Given the description of an element on the screen output the (x, y) to click on. 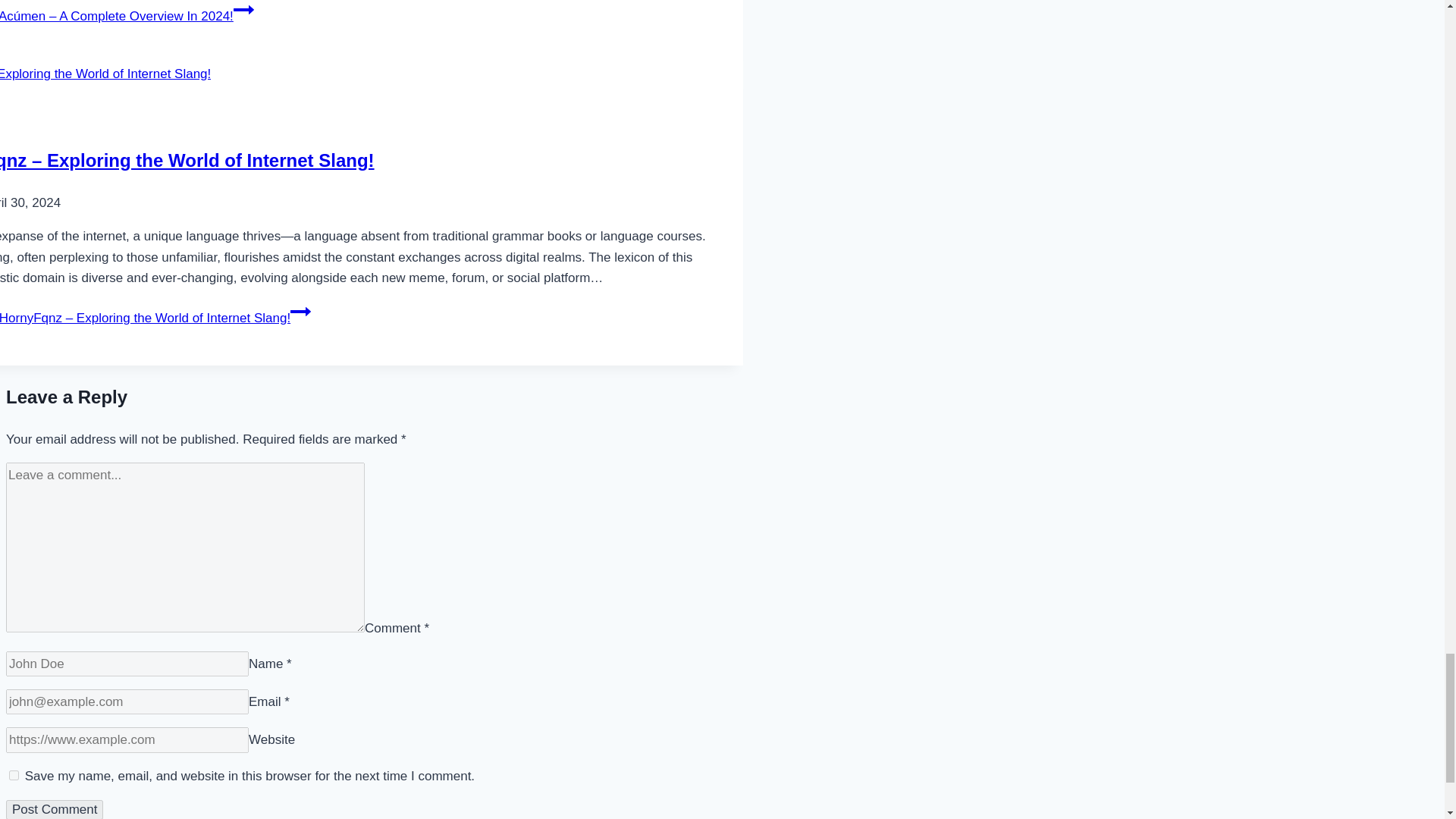
Continue (242, 10)
Post Comment (54, 809)
Continue (300, 311)
yes (13, 775)
